Given the description of an element on the screen output the (x, y) to click on. 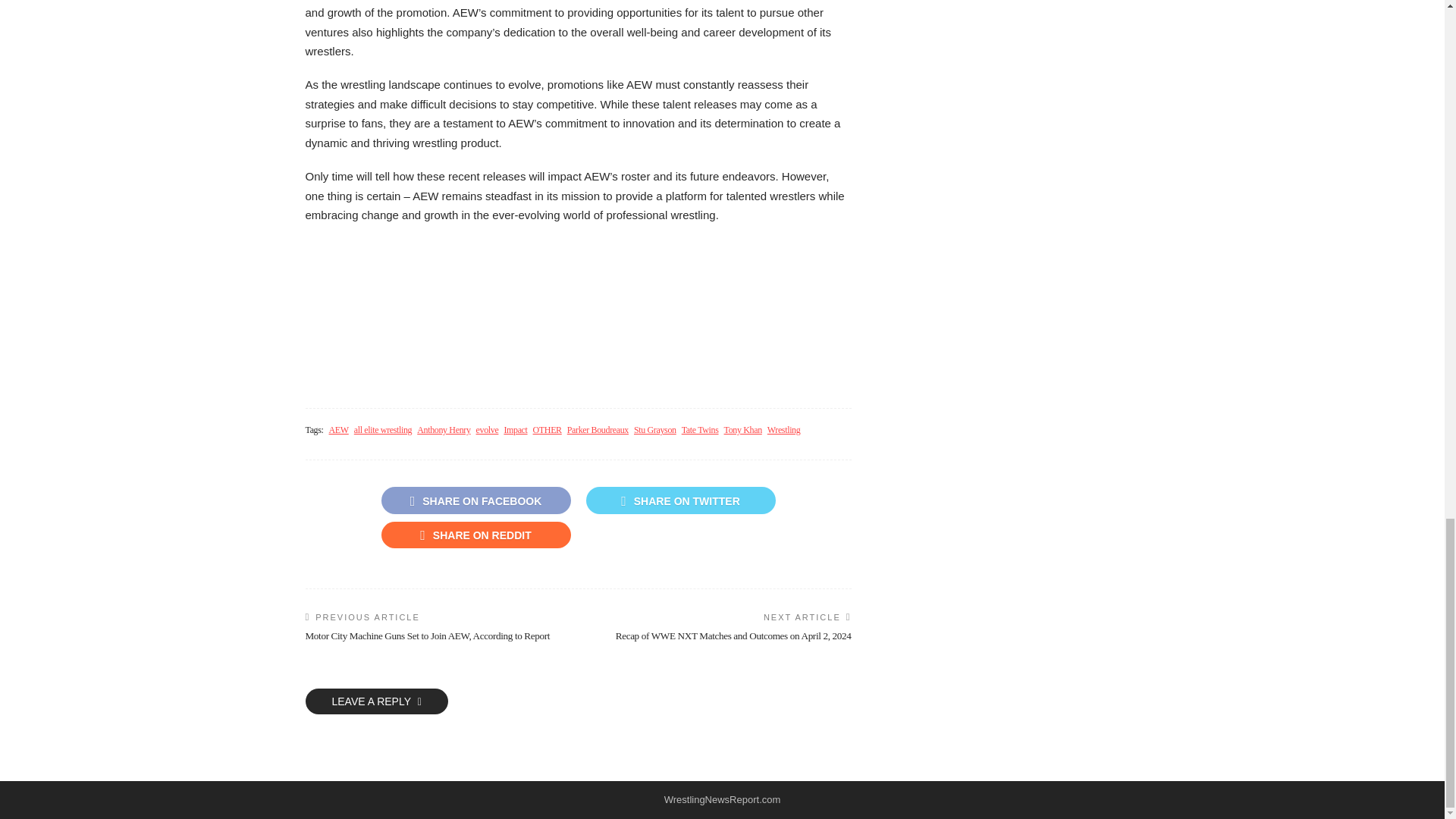
Tony Khan (742, 430)
Motor City Machine Guns Set to Join AEW, According to Report (427, 635)
Stu Grayson (655, 430)
SHARE ON REDDIT (475, 534)
AEW (339, 430)
Recap of WWE NXT Matches and Outcomes on April 2, 2024 (733, 635)
Tate Twins (700, 430)
SHARE ON FACEBOOK (475, 499)
all elite wrestling (382, 430)
Anthony Henry (443, 430)
Impact (515, 430)
OTHER (547, 430)
Impact (515, 430)
Parker Boudreaux (597, 430)
evolve (487, 430)
